Given the description of an element on the screen output the (x, y) to click on. 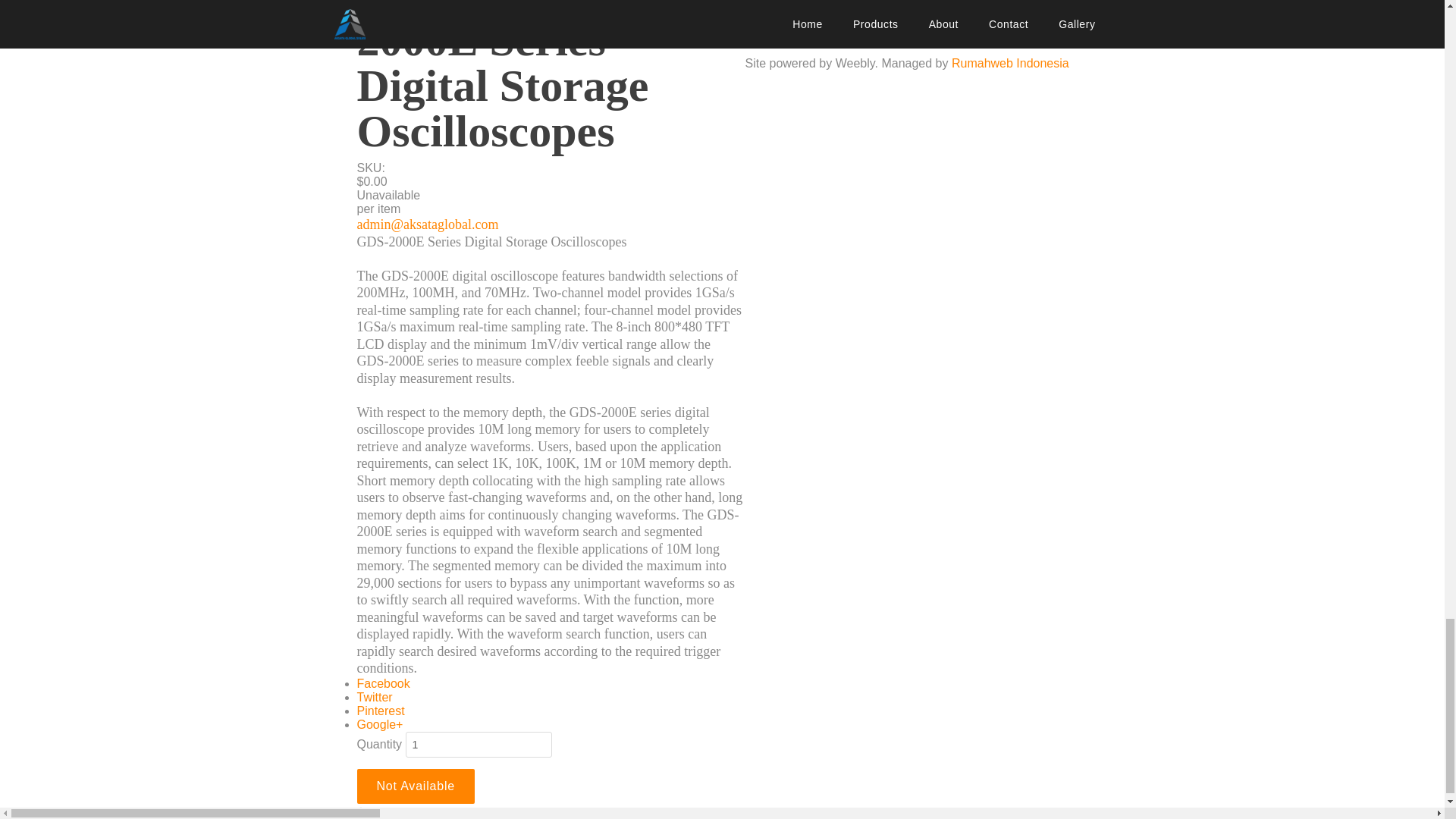
Share on Pinterest (380, 709)
Share on Twitter (373, 696)
Facebook (382, 682)
Not Available (415, 786)
Twitter (373, 696)
Pinterest (380, 709)
1 (478, 743)
Share on Facebook (382, 682)
Rumahweb Indonesia (1010, 62)
